Given the description of an element on the screen output the (x, y) to click on. 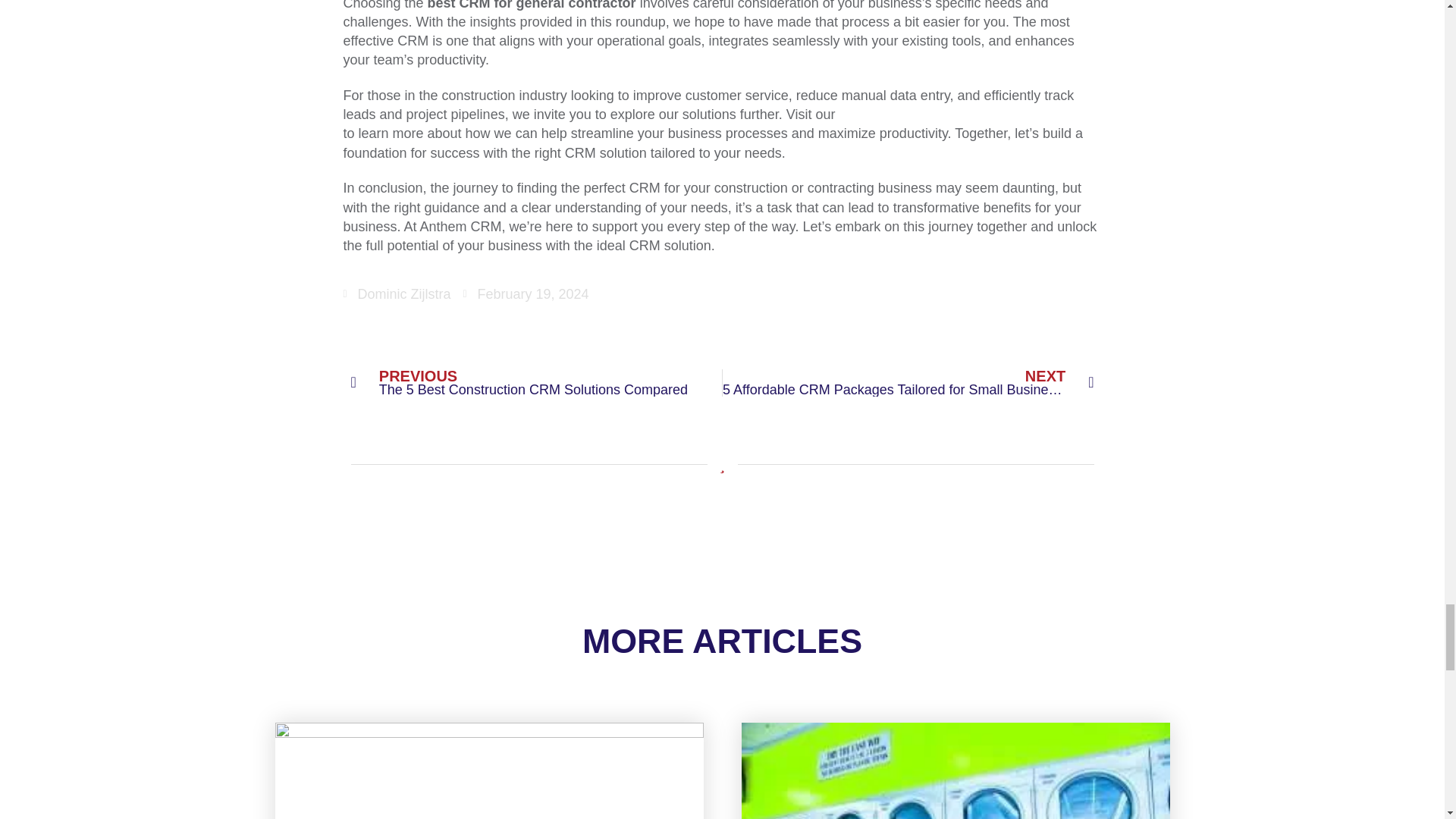
Dominic Zijlstra (536, 382)
February 19, 2024 (395, 294)
residential construction CRM service page (526, 294)
